Given the description of an element on the screen output the (x, y) to click on. 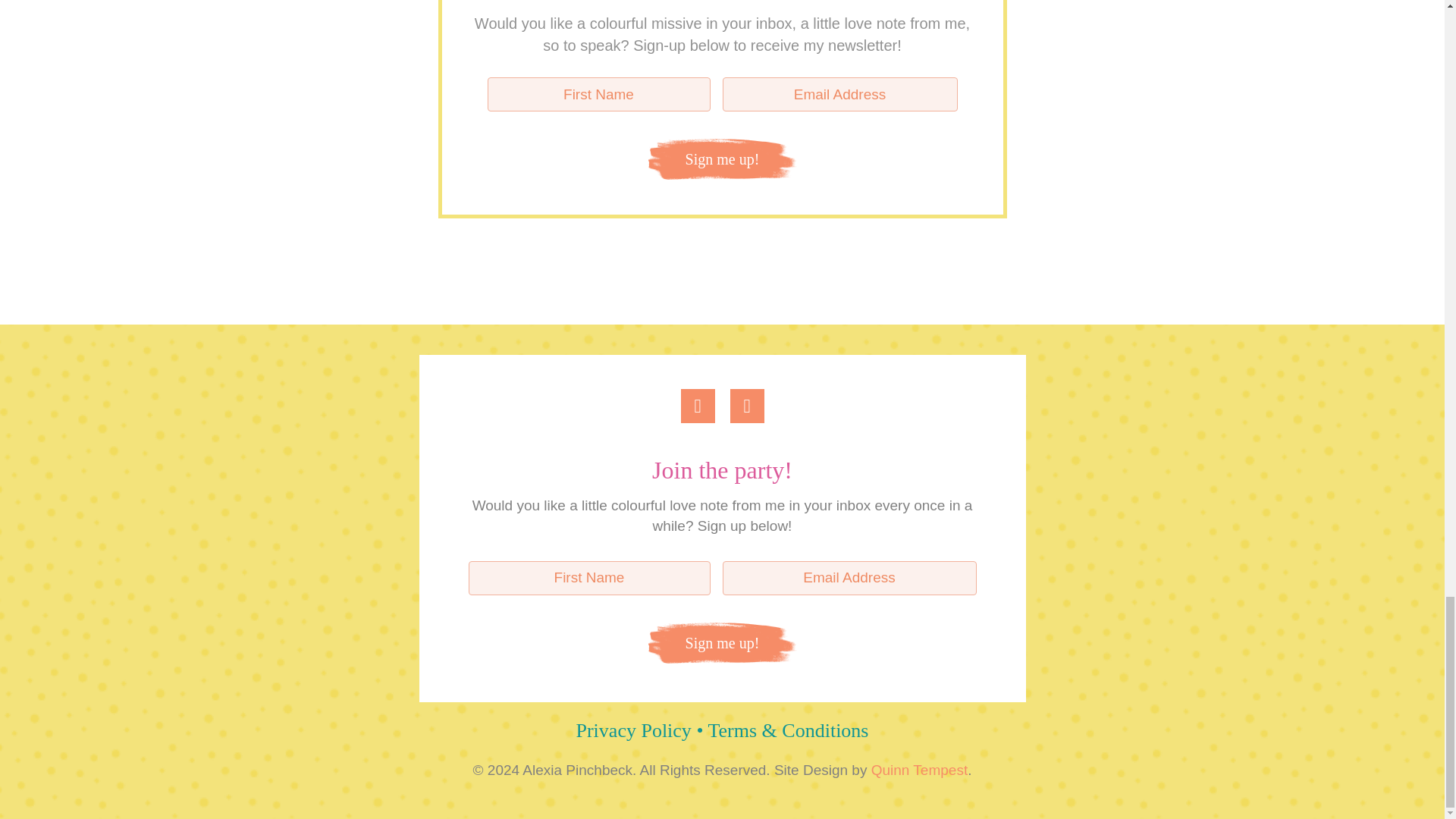
Sign me up! (721, 158)
Sign me up! (721, 642)
